Given the description of an element on the screen output the (x, y) to click on. 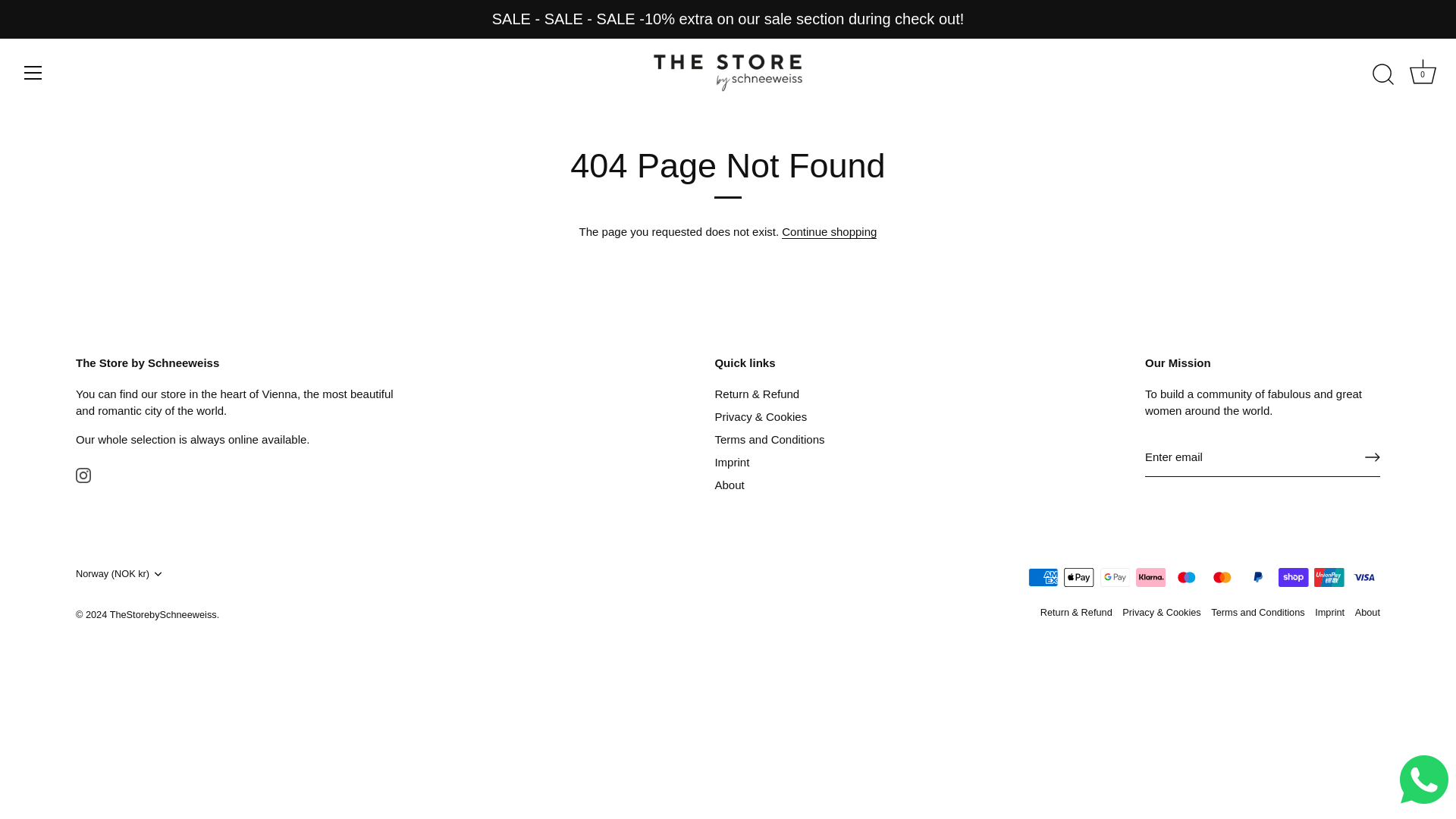
Apple Pay (1078, 577)
Shop Pay (1293, 577)
Google Pay (1114, 577)
Mastercard (1222, 577)
PayPal (1257, 577)
Klarna (1150, 577)
Instagram (82, 475)
Cart (1422, 70)
Union Pay (1328, 577)
Visa (1364, 577)
